Given the description of an element on the screen output the (x, y) to click on. 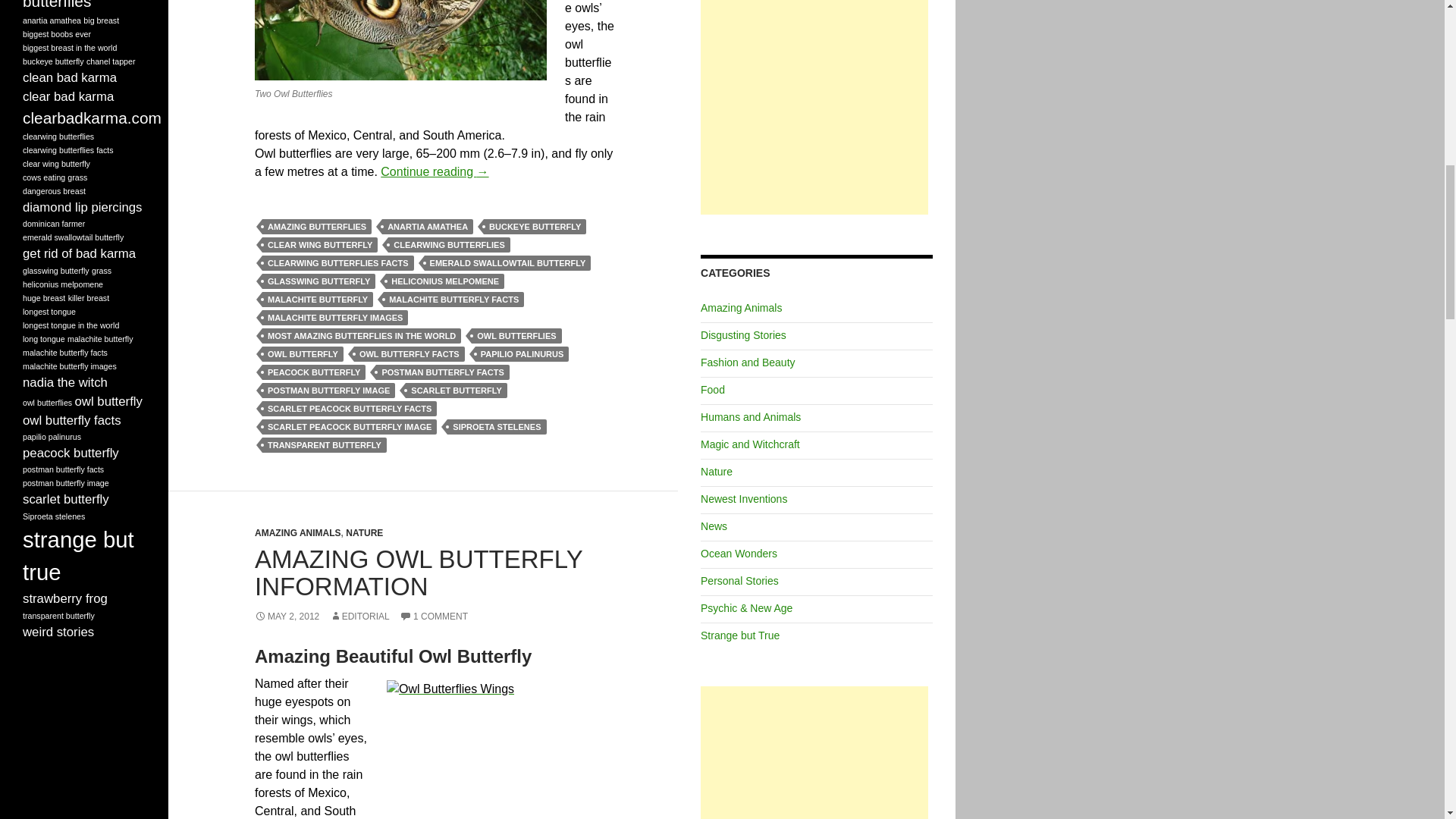
ANARTIA AMATHEA (427, 226)
CLEARWING BUTTERFLIES (448, 244)
EMERALD SWALLOWTAIL BUTTERFLY (508, 263)
Owl Butterflies Wings (500, 749)
AMAZING BUTTERFLIES (316, 226)
CLEARWING BUTTERFLIES FACTS (337, 263)
BUCKEYE BUTTERFLY (534, 226)
MALACHITE BUTTERFLY (317, 299)
GLASSWING BUTTERFLY (318, 281)
CLEAR WING BUTTERFLY (319, 244)
